Given the description of an element on the screen output the (x, y) to click on. 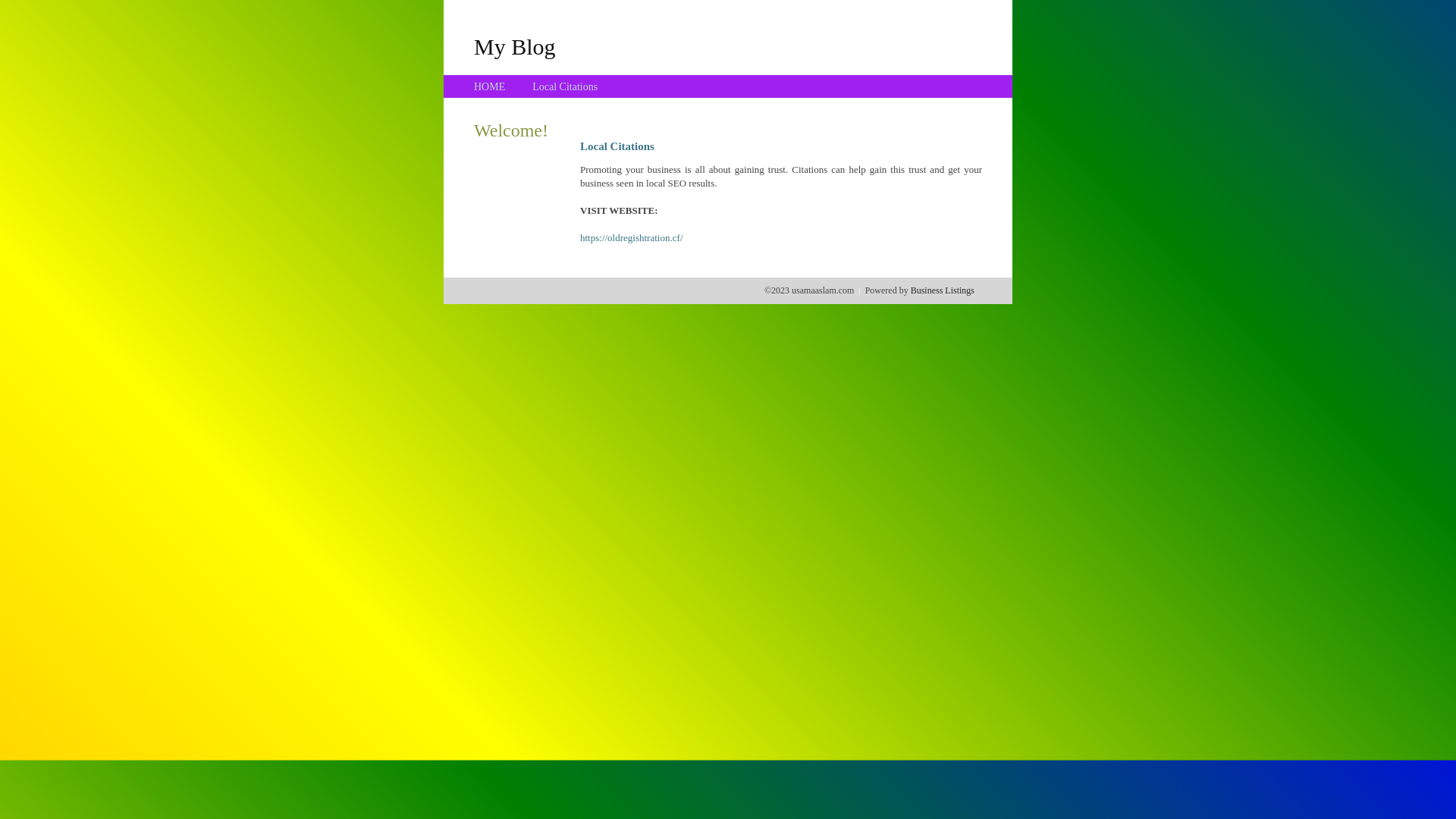
https://oldregishtration.cf/ Element type: text (631, 237)
HOME Element type: text (489, 86)
Local Citations Element type: text (564, 86)
My Blog Element type: text (514, 46)
Business Listings Element type: text (942, 290)
